Given the description of an element on the screen output the (x, y) to click on. 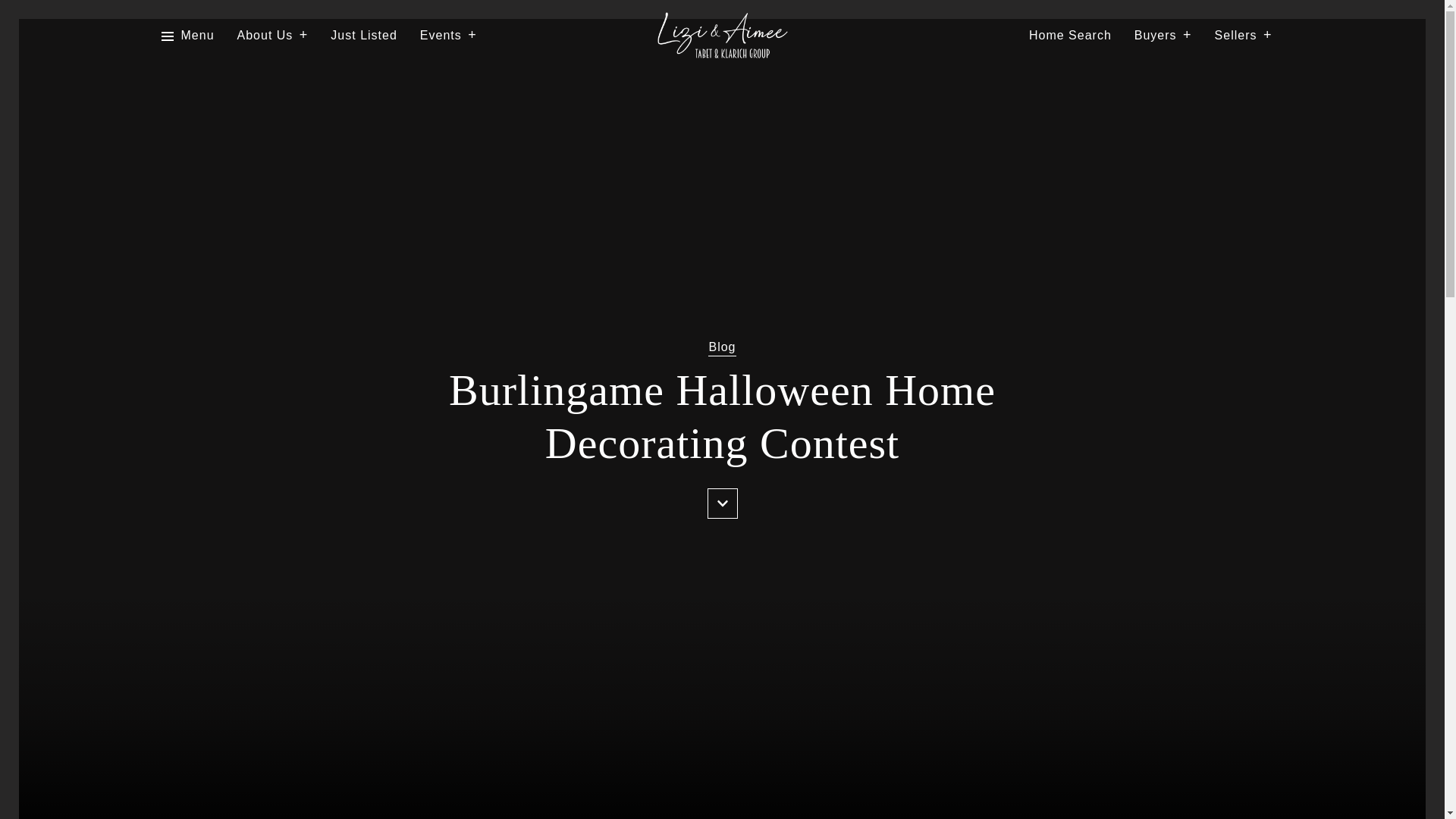
Home Search (1070, 35)
Sellers (1243, 35)
Menu (197, 35)
Events (448, 35)
Buyers (1163, 35)
Just Listed (363, 35)
About Us (272, 35)
Menu (187, 35)
